Given the description of an element on the screen output the (x, y) to click on. 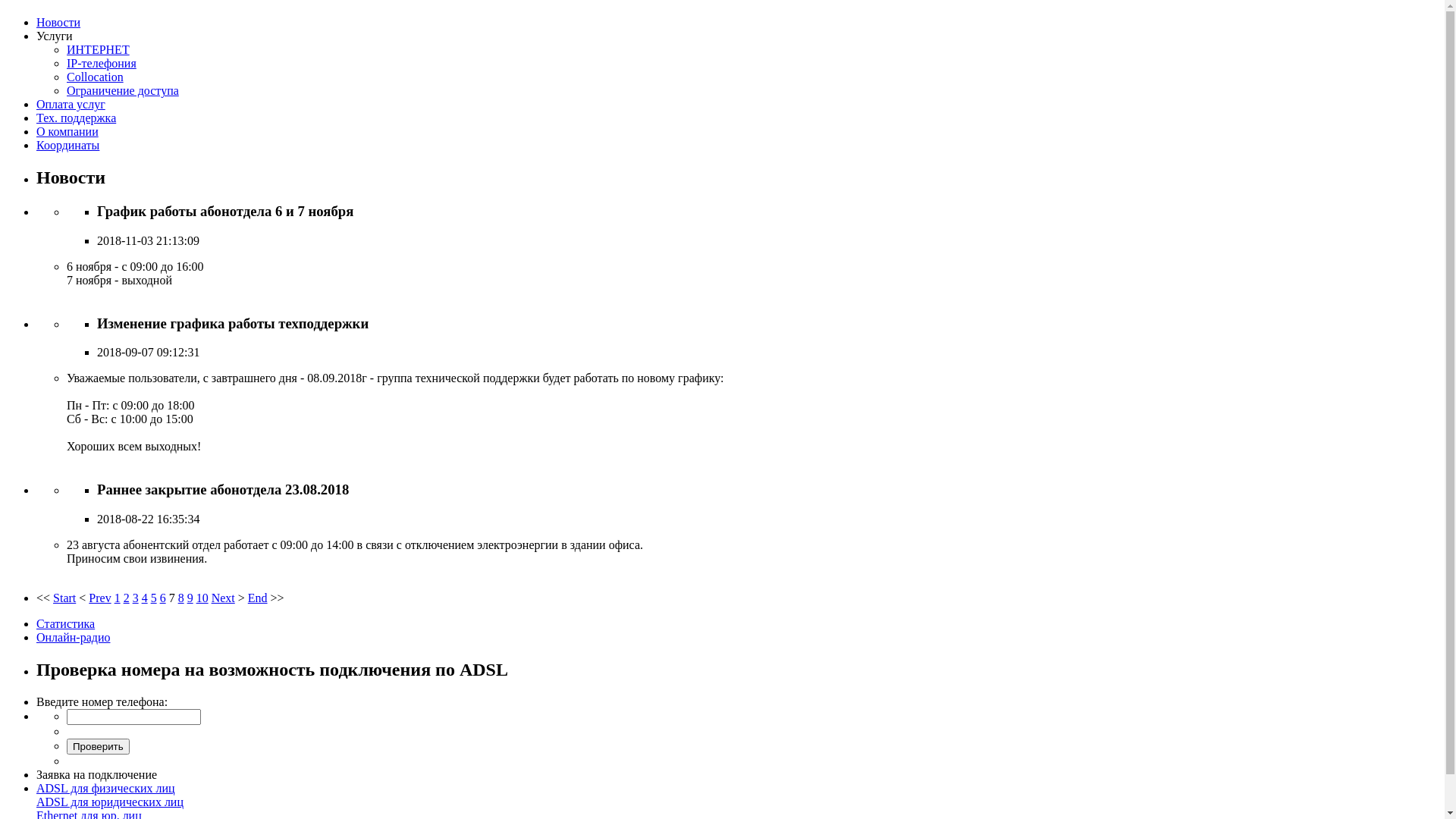
1 Element type: text (117, 597)
Next Element type: text (223, 597)
8 Element type: text (181, 597)
End Element type: text (257, 597)
6 Element type: text (163, 597)
5 Element type: text (153, 597)
Prev Element type: text (99, 597)
9 Element type: text (190, 597)
4 Element type: text (144, 597)
10 Element type: text (202, 597)
2 Element type: text (126, 597)
Start Element type: text (64, 597)
3 Element type: text (135, 597)
